Given the description of an element on the screen output the (x, y) to click on. 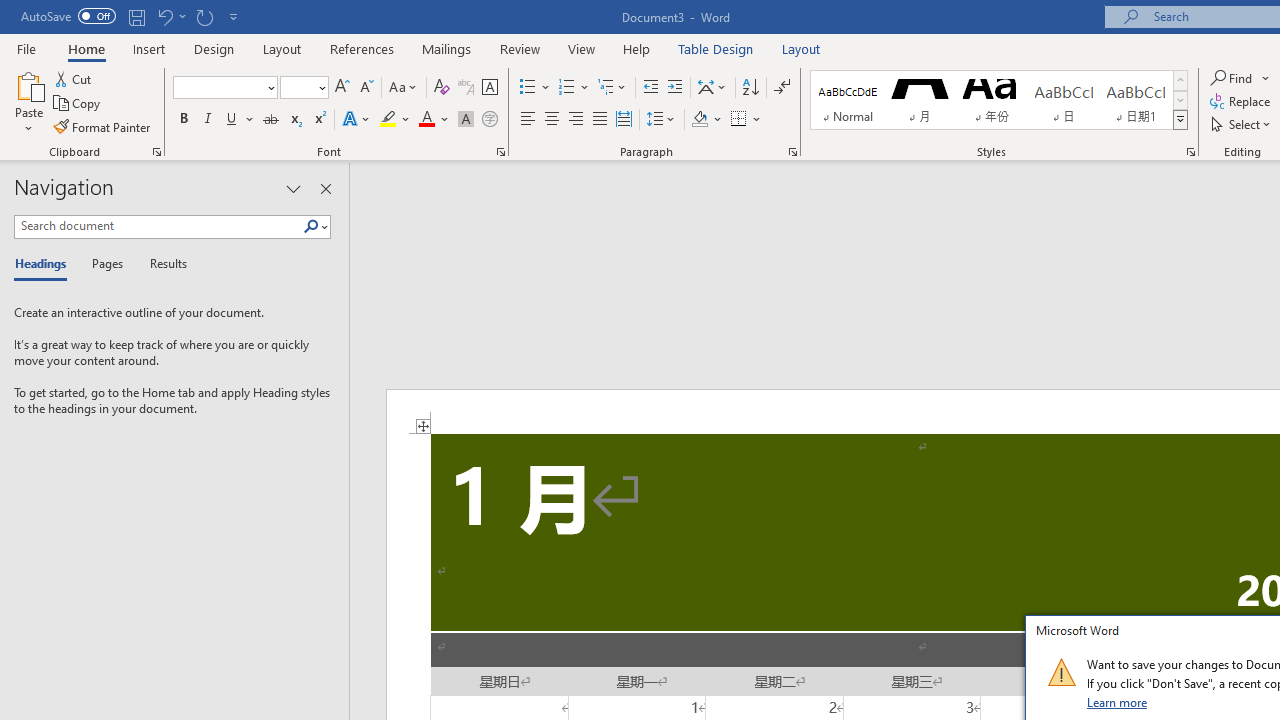
AutoSave (68, 16)
Text Highlight Color Yellow (388, 119)
Search (315, 227)
Justify (599, 119)
Mailings (447, 48)
Underline (232, 119)
Format Painter (103, 126)
Bullets (535, 87)
References (362, 48)
Save (136, 15)
Text Highlight Color (395, 119)
Change Case (404, 87)
Headings (45, 264)
Results (161, 264)
Find (1240, 78)
